Given the description of an element on the screen output the (x, y) to click on. 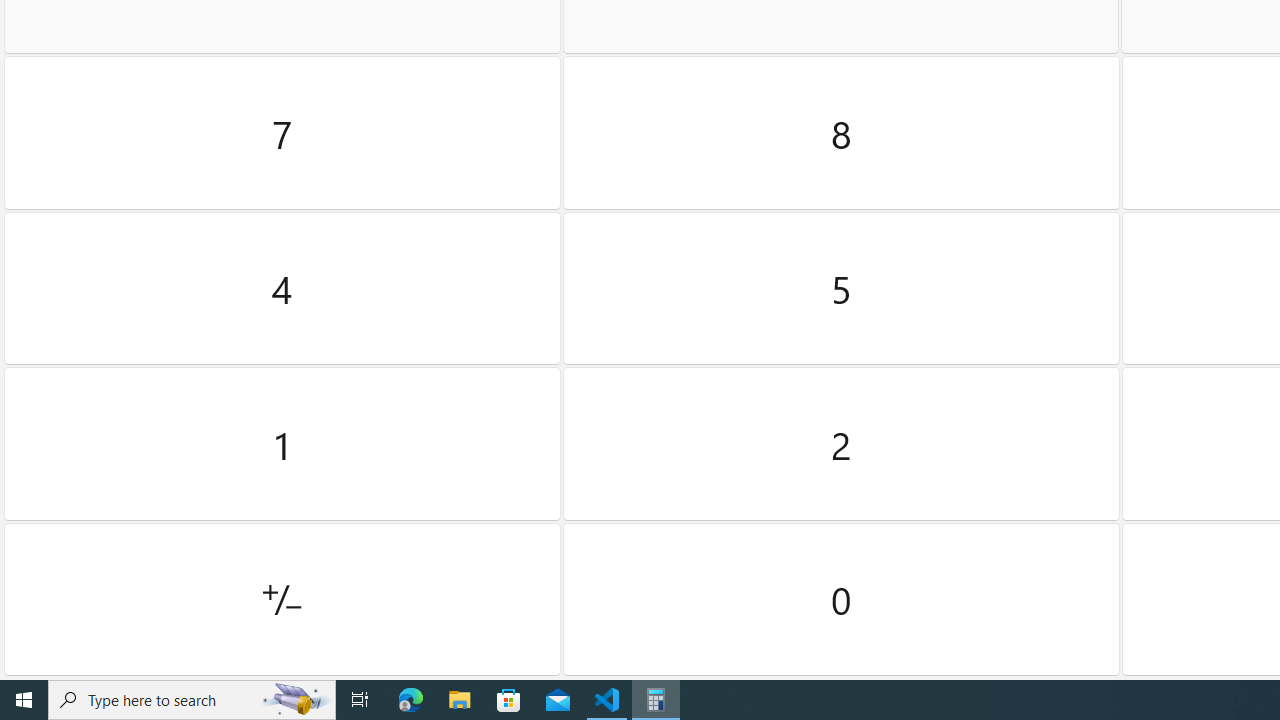
File Explorer (460, 699)
Calculator - 1 running window (656, 699)
Positive negative (281, 599)
Two (841, 444)
Visual Studio Code - 1 running window (607, 699)
Search highlights icon opens search home window (295, 699)
Zero (841, 599)
Seven (281, 133)
One (281, 444)
Eight (841, 133)
Start (24, 699)
Type here to search (191, 699)
Microsoft Edge (411, 699)
Task View (359, 699)
